Given the description of an element on the screen output the (x, y) to click on. 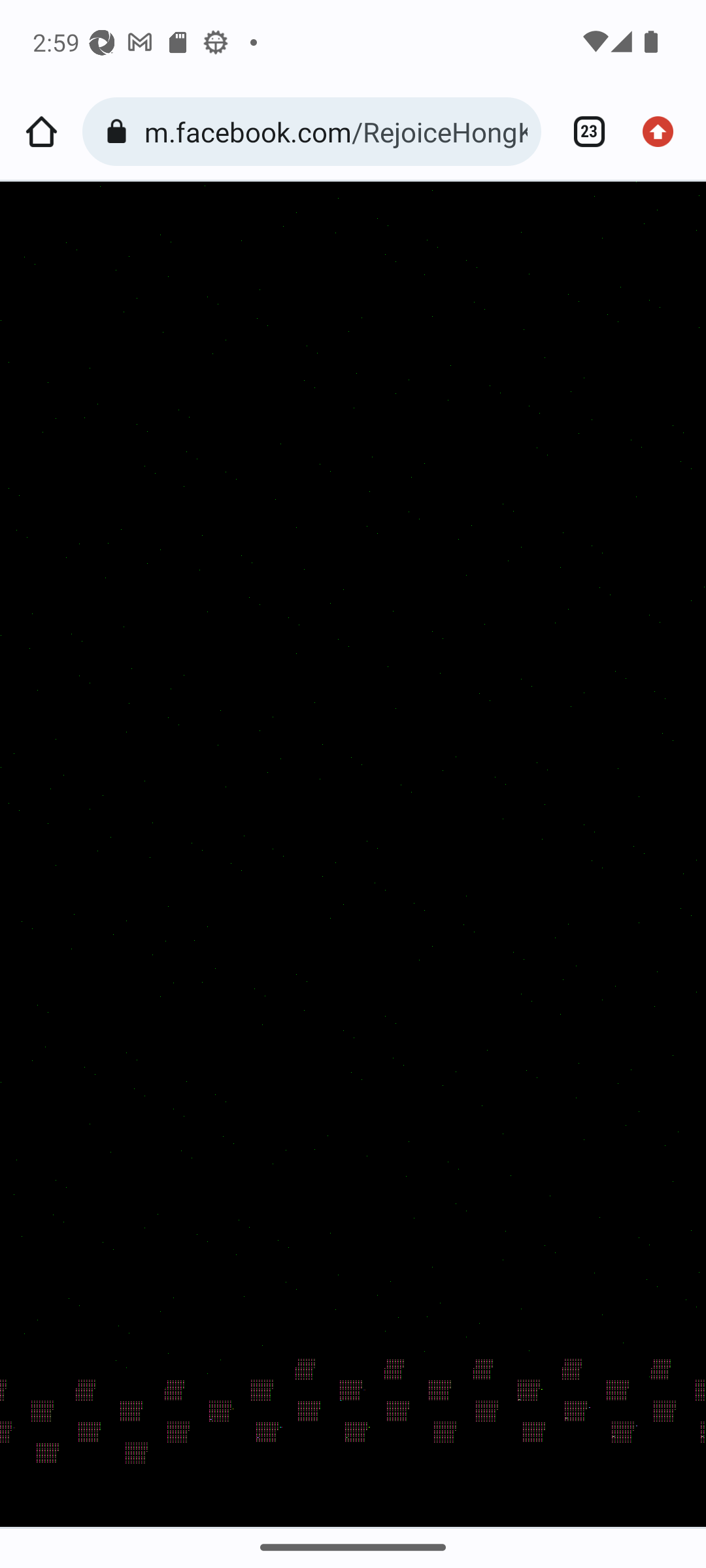
Home (41, 131)
Connection is secure (120, 131)
Switch or close tabs (582, 131)
Update available. More options (664, 131)
m.facebook.com/RejoiceHongKong (335, 131)
